Given the description of an element on the screen output the (x, y) to click on. 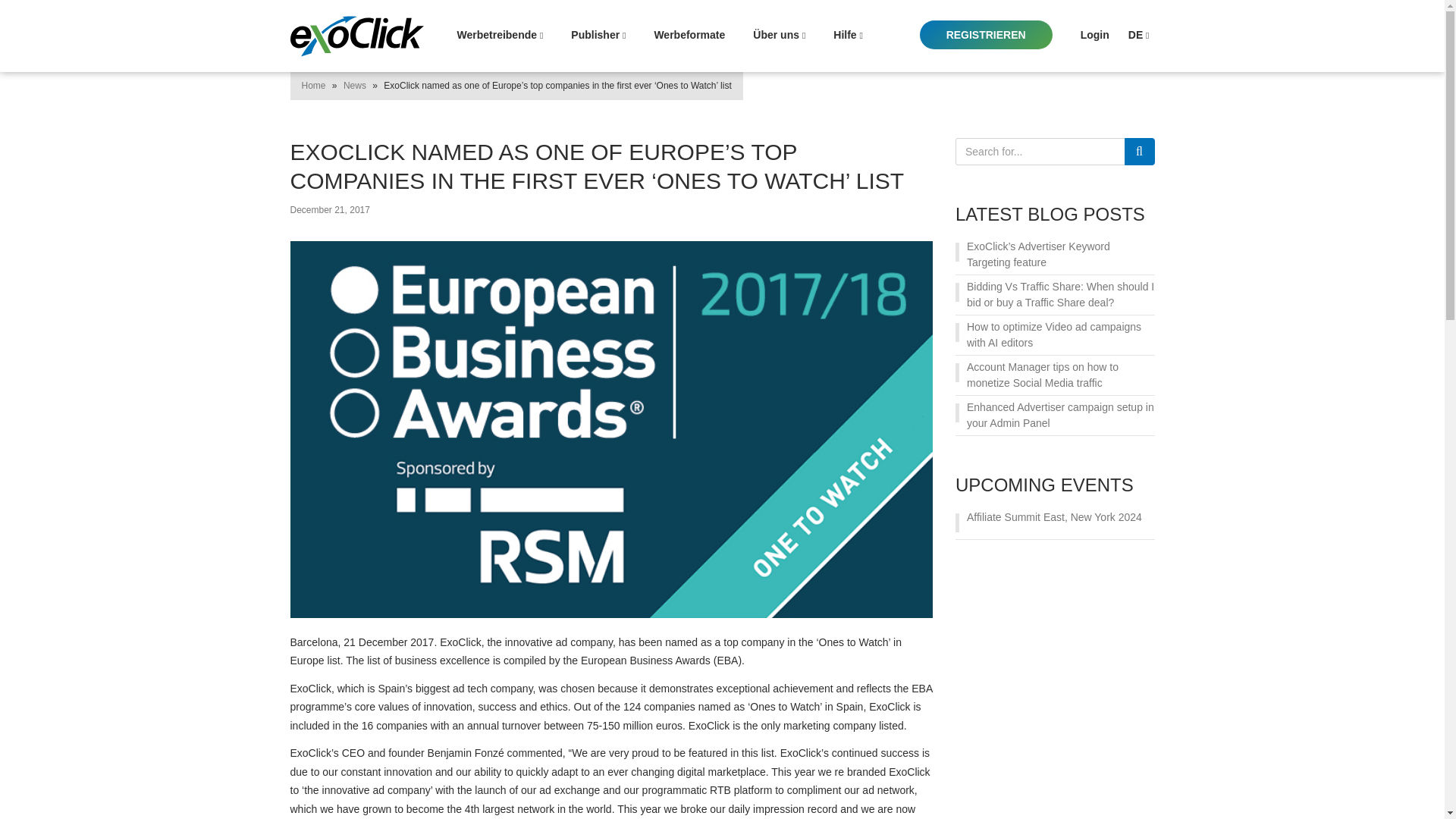
News (354, 85)
Publisher (598, 34)
Home (313, 85)
Werbetreibende (500, 34)
REGISTRIEREN (986, 34)
Werbeformate (689, 34)
